Given the description of an element on the screen output the (x, y) to click on. 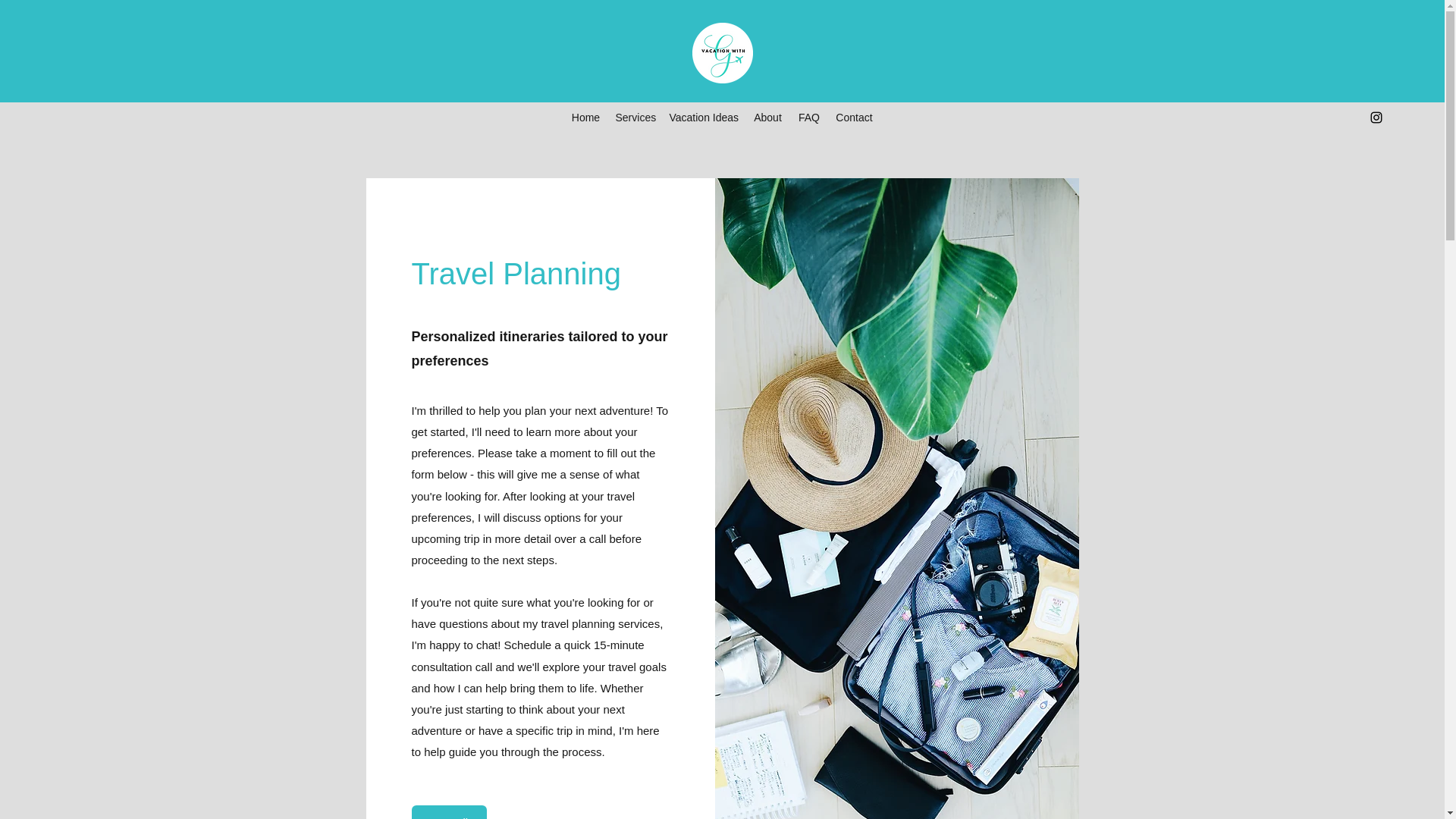
Home (585, 117)
Services (634, 117)
Vacation Ideas (702, 117)
Let's talk (448, 812)
About (767, 117)
FAQ (808, 117)
Contact (853, 117)
